Given the description of an element on the screen output the (x, y) to click on. 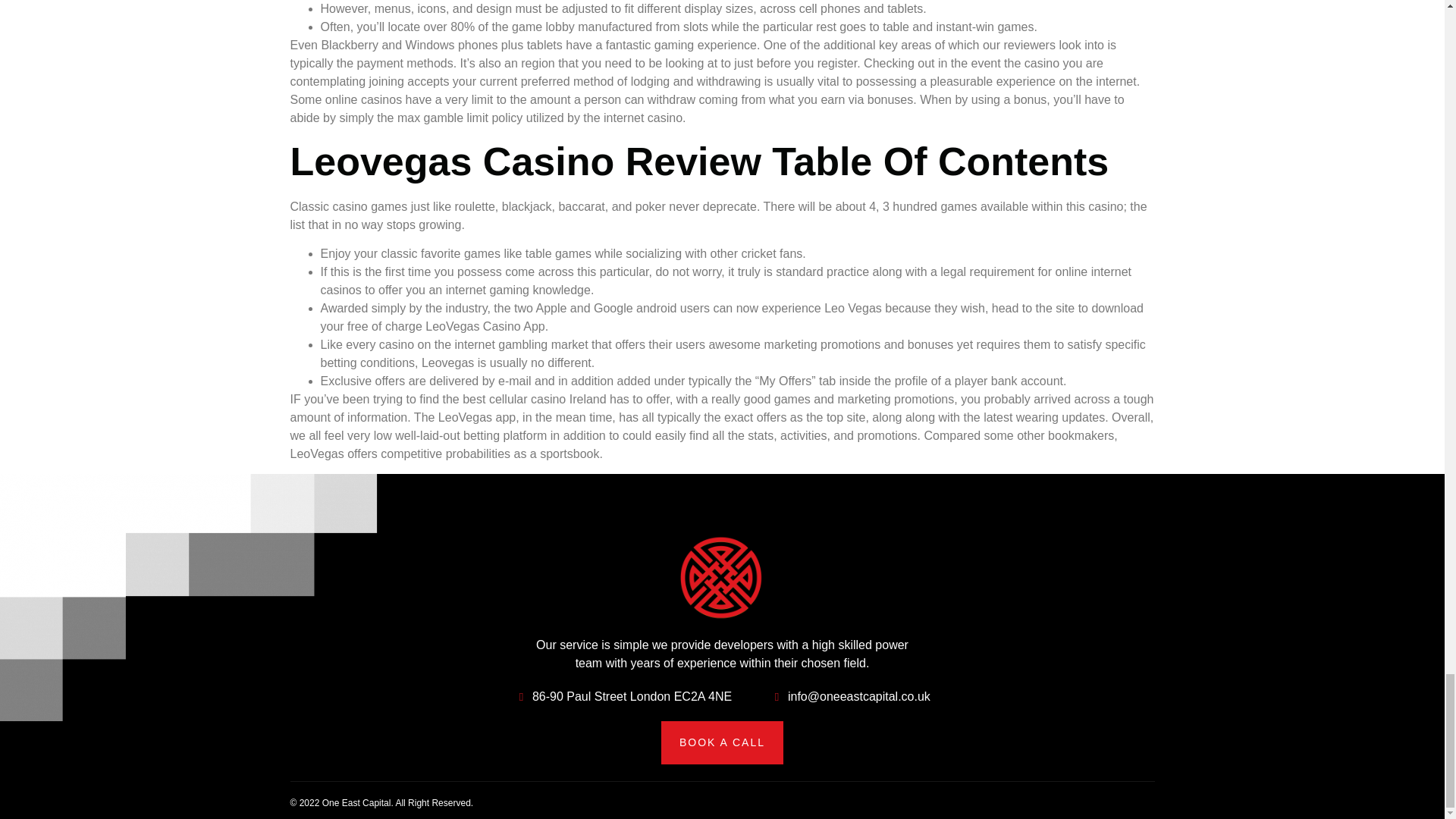
BOOK A CALL (722, 742)
86-90 Paul Street London EC2A 4NE (622, 696)
